Given the description of an element on the screen output the (x, y) to click on. 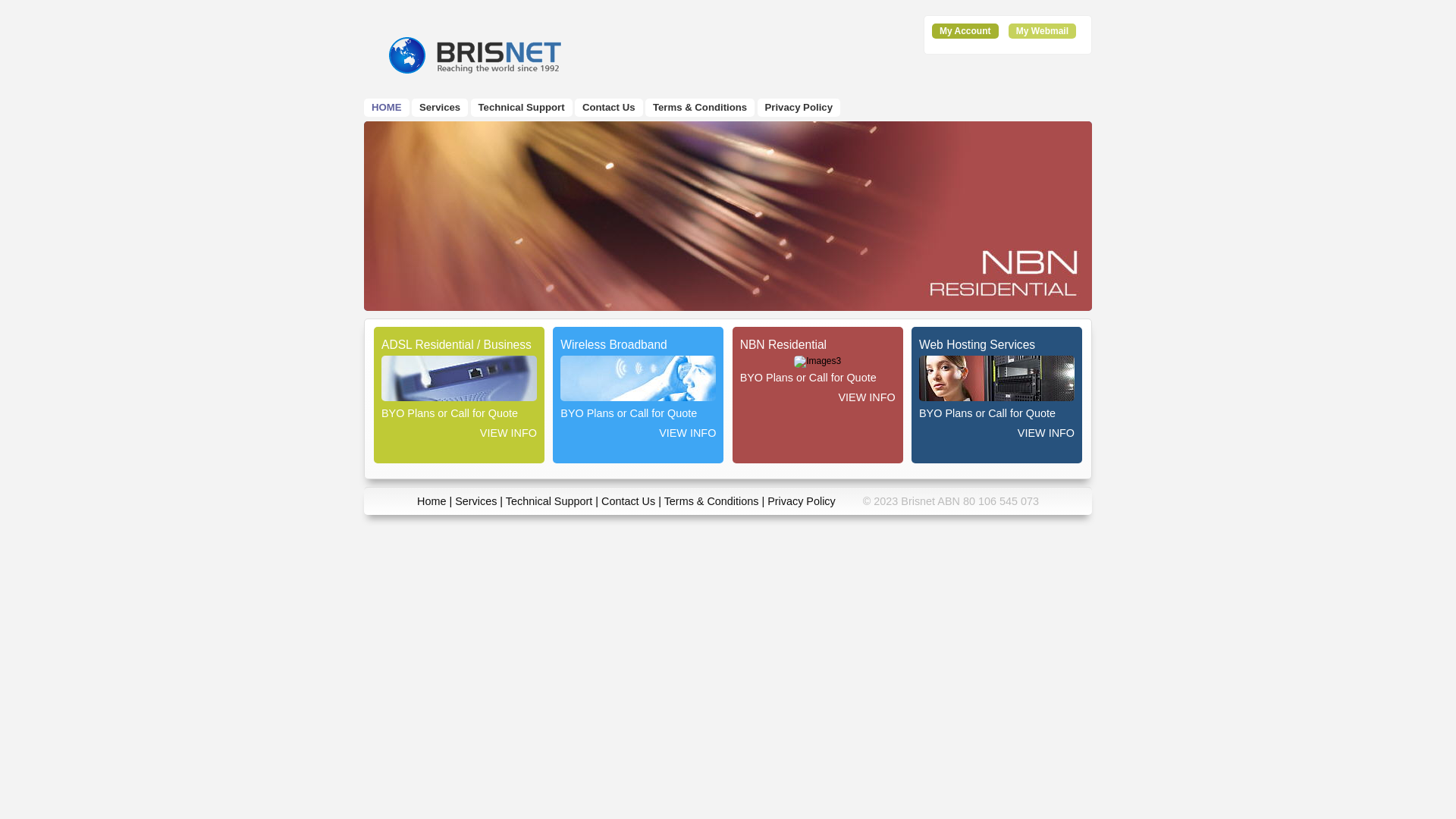
Privacy Policy Element type: text (801, 501)
VIEW INFO Element type: text (996, 429)
Terms & Conditions | Element type: text (716, 501)
VIEW INFO Element type: text (458, 429)
Technical Support Element type: text (521, 106)
Services Element type: text (439, 106)
My Account Element type: text (965, 30)
Terms & Conditions Element type: text (699, 106)
Contact Us Element type: text (628, 501)
Technical Support Element type: text (548, 501)
Contact Us Element type: text (608, 106)
NBN Residential Element type: hover (728, 215)
HOME Element type: text (386, 106)
Brisnet Element type: hover (474, 54)
Services Element type: text (475, 501)
VIEW INFO Element type: text (817, 393)
Privacy Policy Element type: text (798, 106)
VIEW INFO Element type: text (637, 429)
My Webmail Element type: text (1042, 30)
Home Element type: text (431, 501)
